Given the description of an element on the screen output the (x, y) to click on. 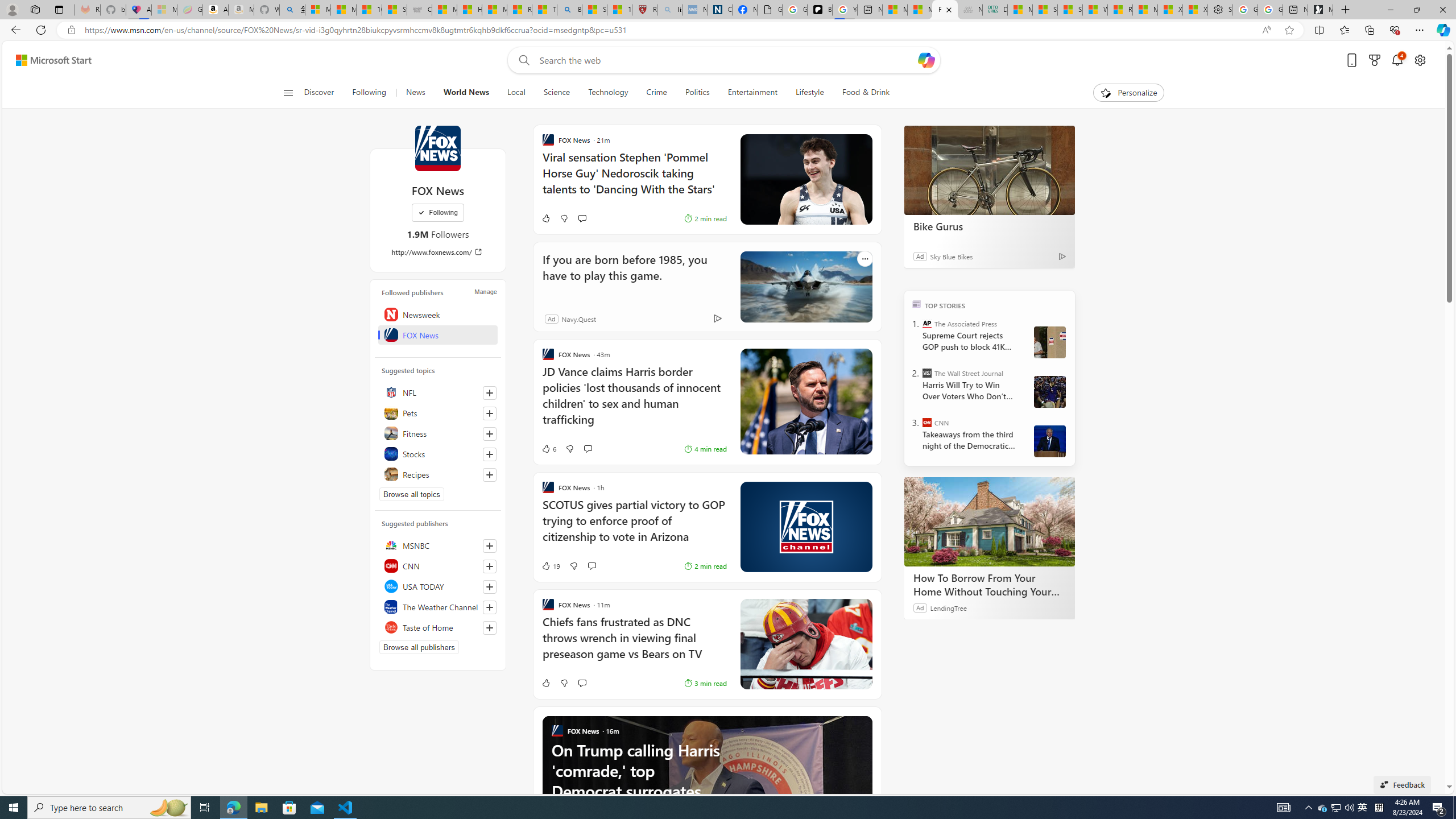
12 Popular Science Lies that Must be Corrected (619, 9)
Follow this topic (489, 474)
NFL (437, 392)
Recipes - MSN (519, 9)
